Given the description of an element on the screen output the (x, y) to click on. 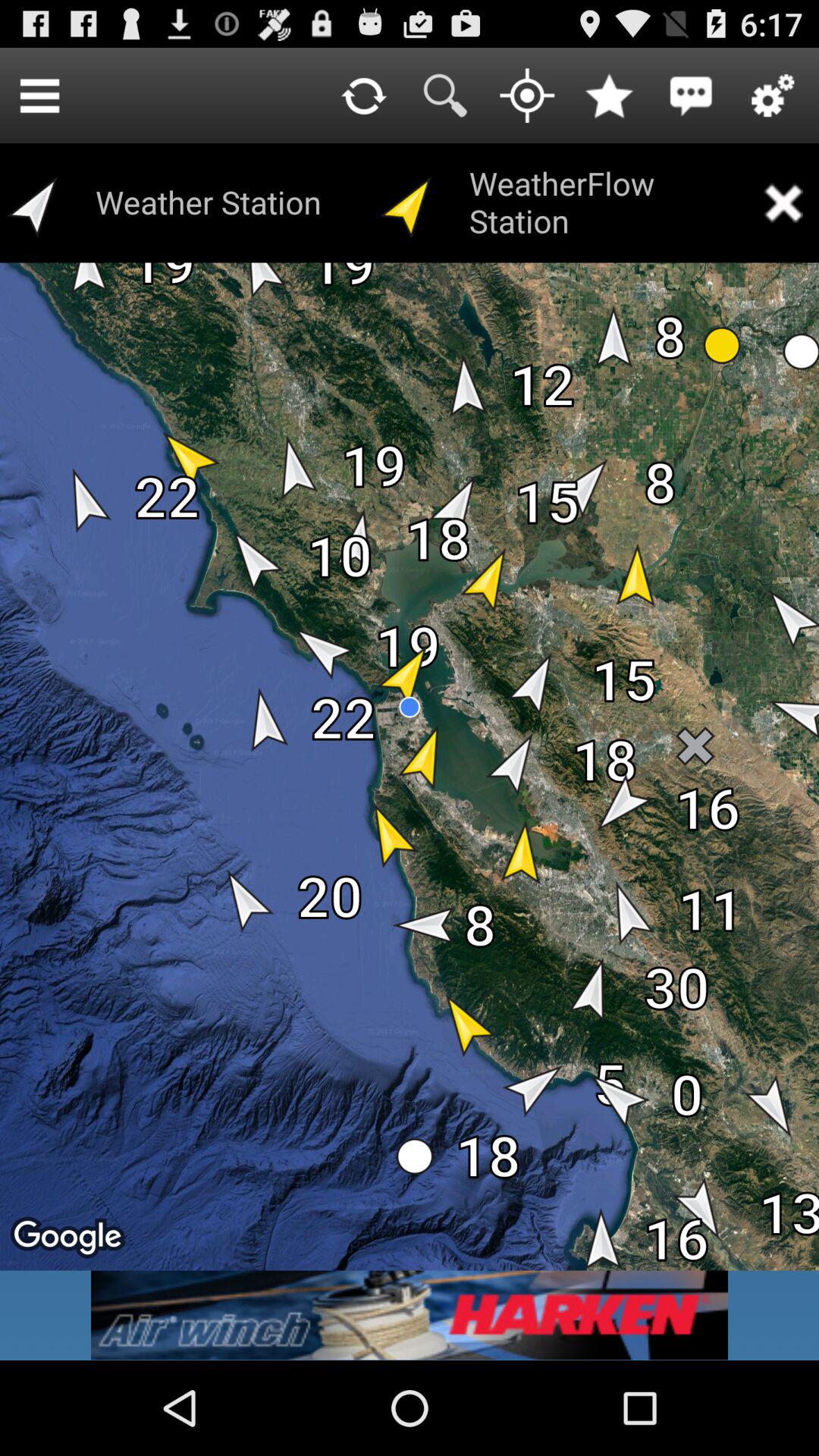
refresh the screen (363, 95)
